Given the description of an element on the screen output the (x, y) to click on. 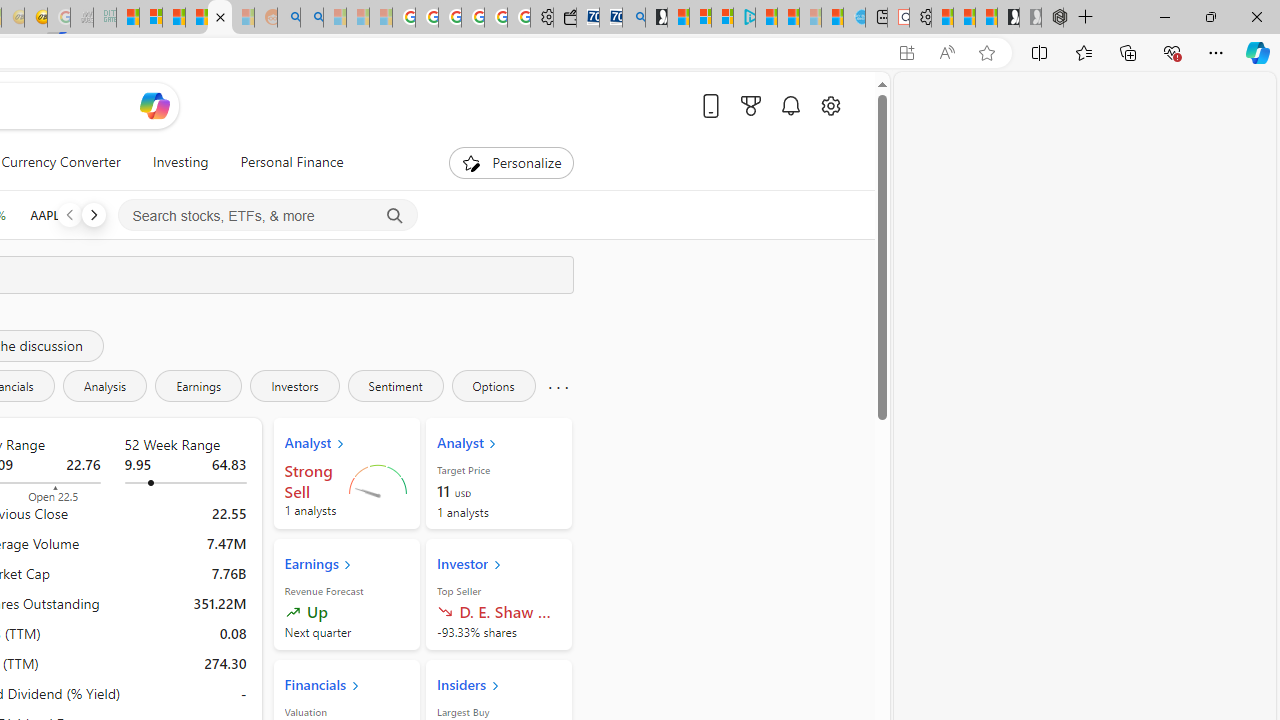
Personal Finance (292, 162)
Options (493, 385)
Personal Finance (284, 162)
